Given the description of an element on the screen output the (x, y) to click on. 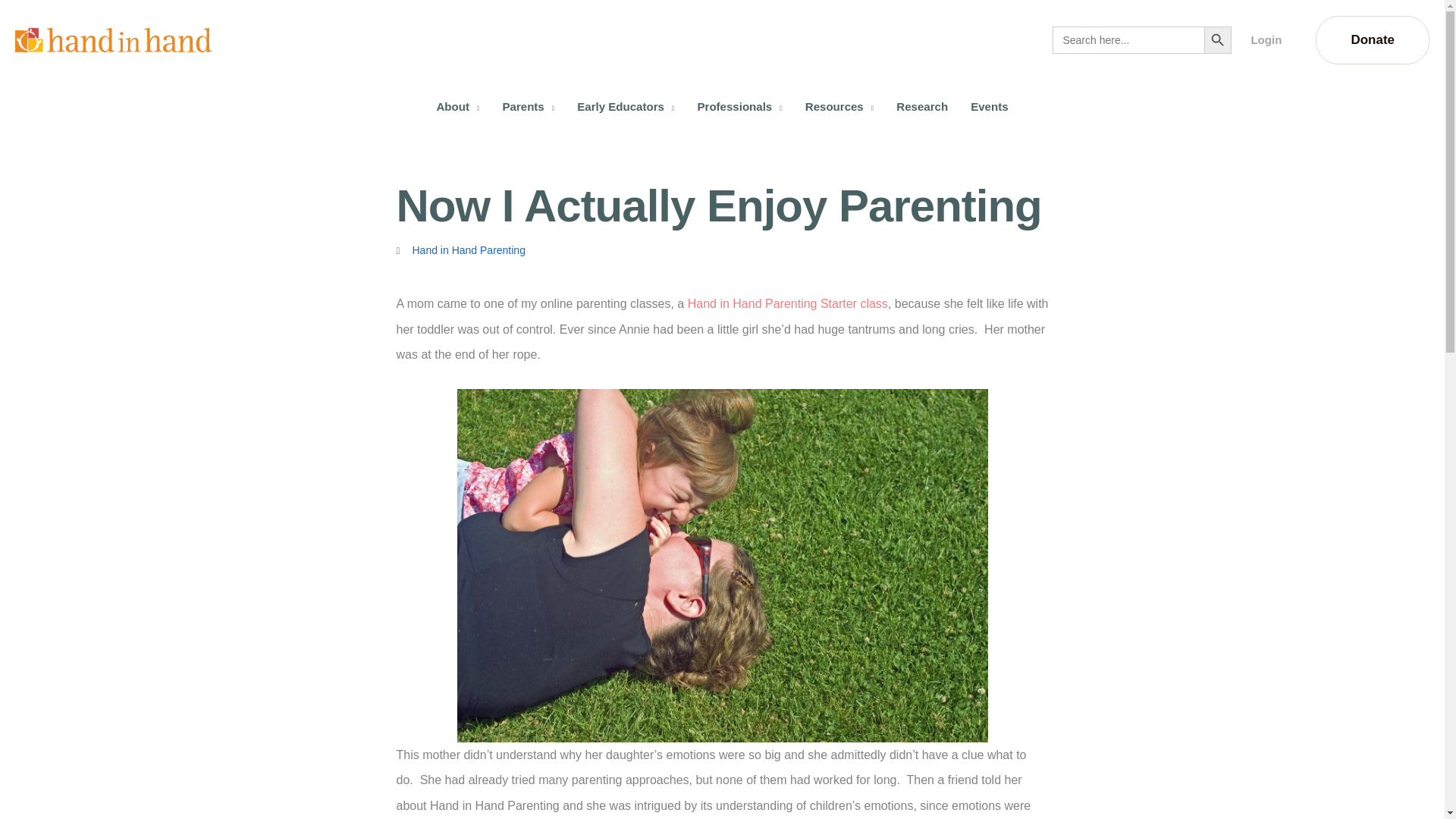
Professionals (739, 106)
Resources (839, 106)
Parents (528, 106)
Search Button (1217, 40)
Instructor-led Online Classes (787, 303)
Donate (1372, 39)
About (457, 106)
Early Educators (625, 106)
